Given the description of an element on the screen output the (x, y) to click on. 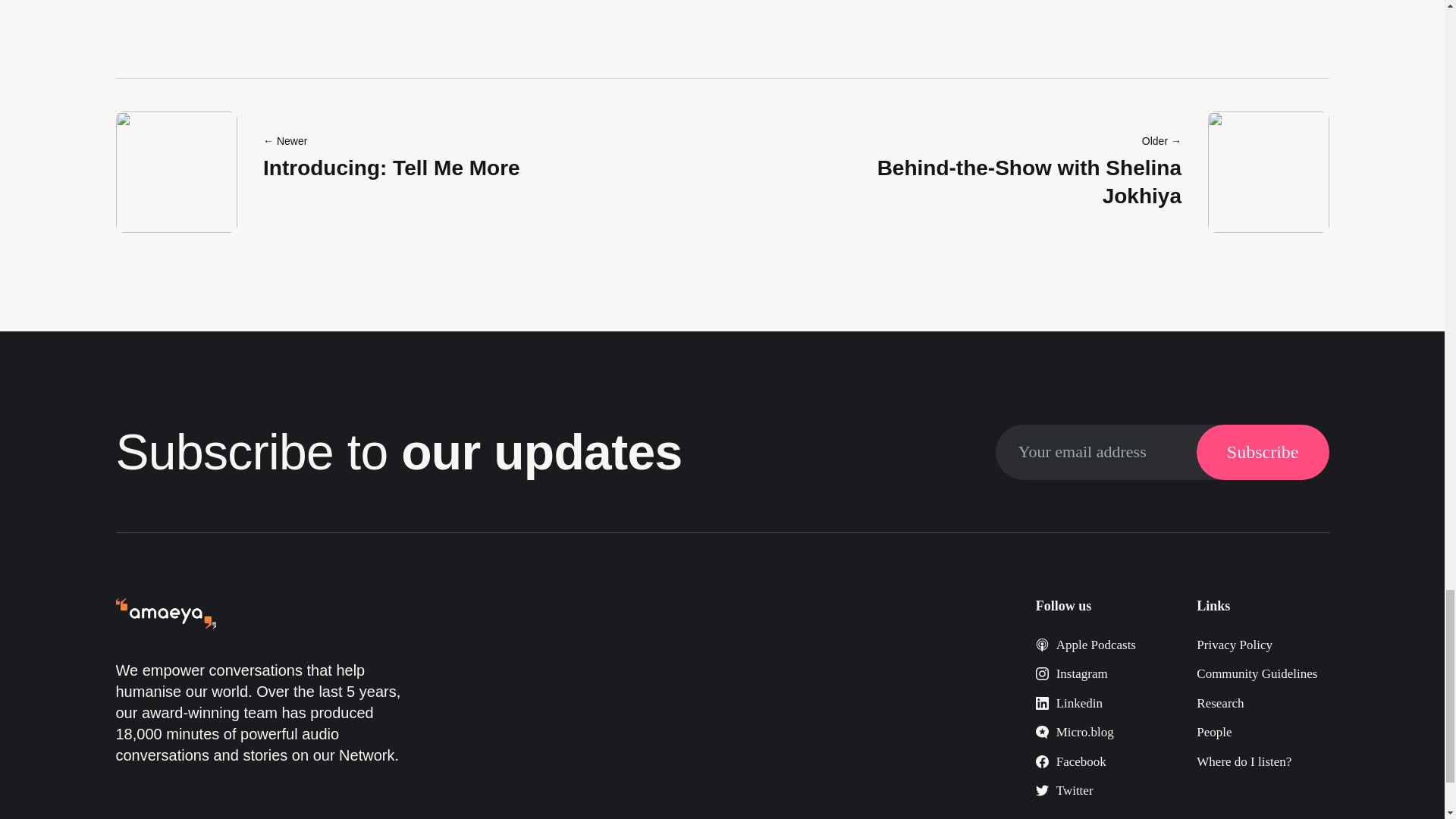
People (1213, 731)
Apple Podcasts (1085, 644)
Micro.blog (1074, 731)
Linkedin (1068, 703)
Research (1219, 703)
Facebook (1070, 761)
Instagram (1071, 673)
Twitter (1064, 789)
Where do I listen? (1243, 761)
Community Guidelines (1256, 673)
